Given the description of an element on the screen output the (x, y) to click on. 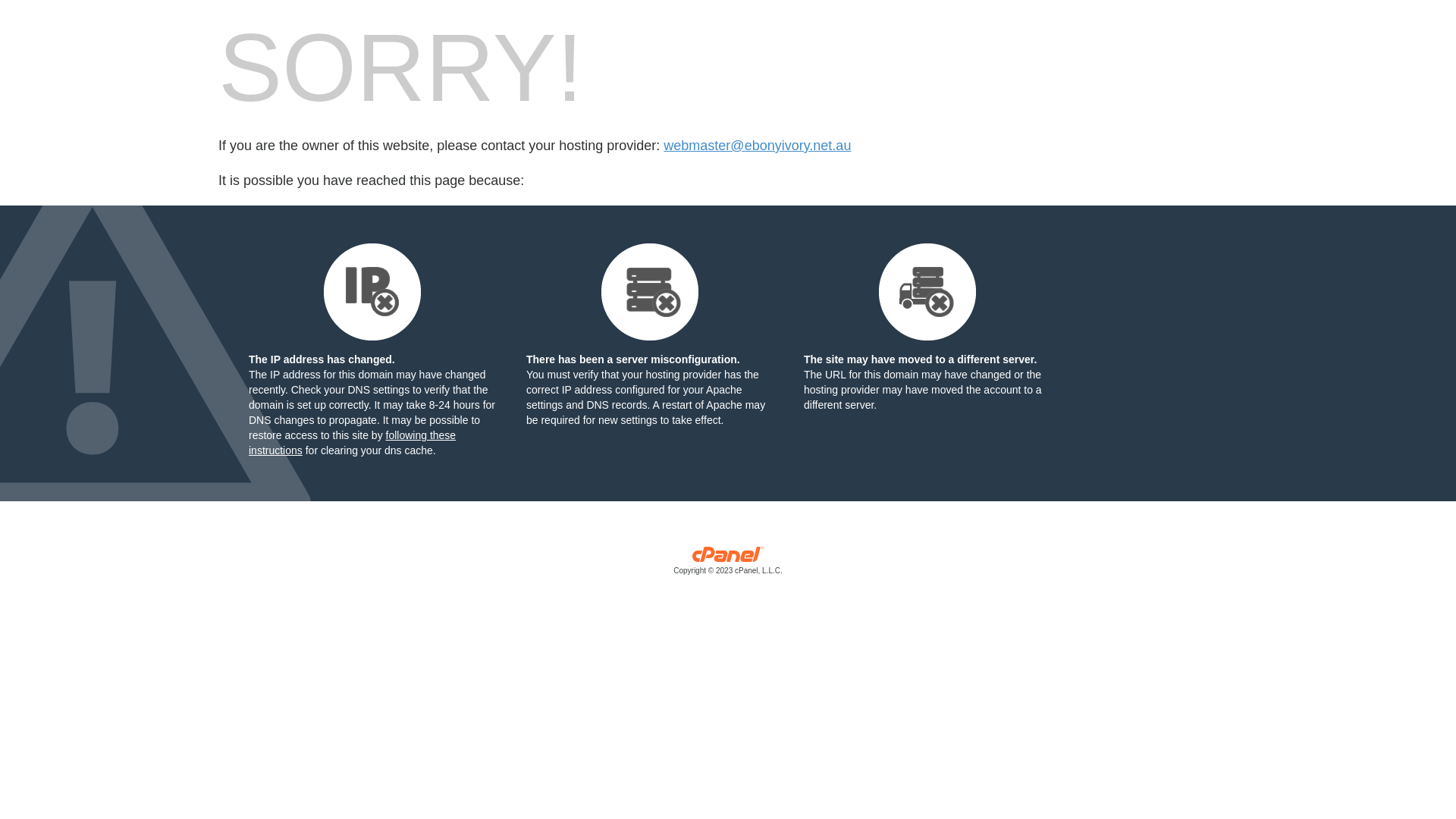
webmaster@ebonyivory.net.au Element type: text (756, 145)
following these instructions Element type: text (351, 442)
